Given the description of an element on the screen output the (x, y) to click on. 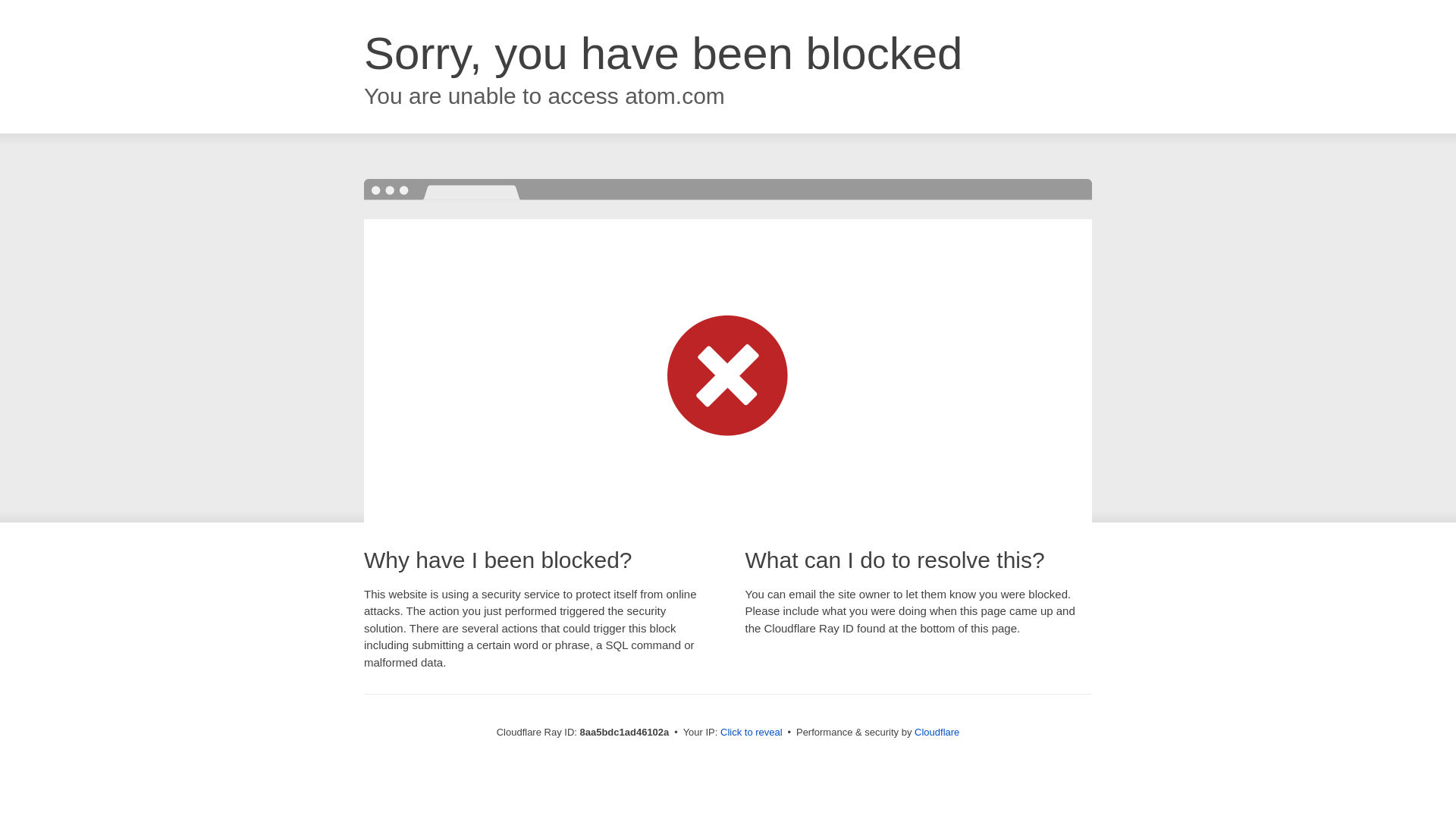
Click to reveal (751, 732)
Cloudflare (936, 731)
